Given the description of an element on the screen output the (x, y) to click on. 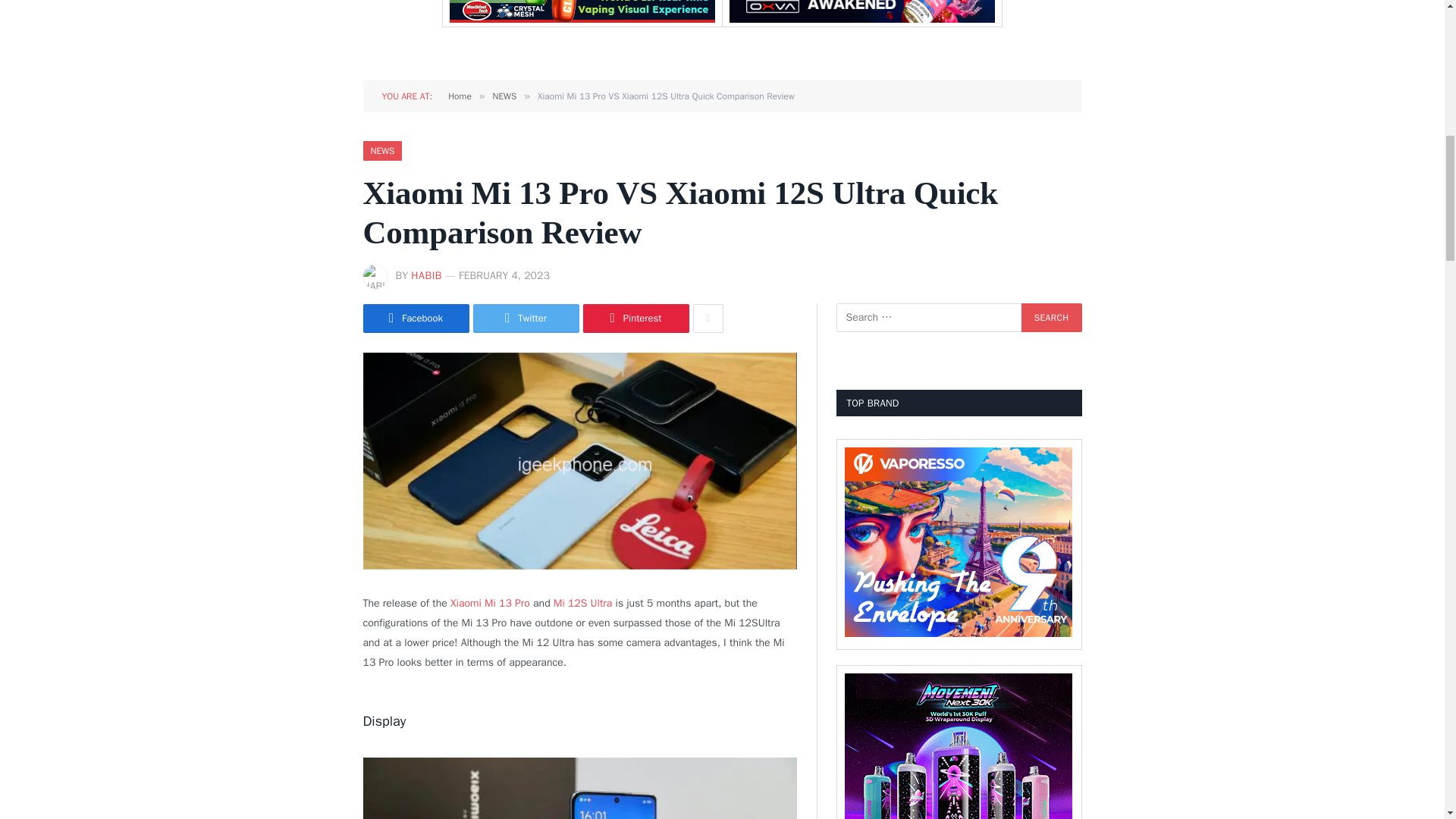
Posts by Habib (426, 275)
Search (1051, 317)
Xiaomi Mi 13 Pro VS Xiaomi 12S Ultra Quick Comparison Review (579, 460)
Share on Facebook (415, 317)
Show More Social Sharing (708, 317)
Share on Twitter (526, 317)
Share on Pinterest (635, 317)
Search (1051, 317)
